Given the description of an element on the screen output the (x, y) to click on. 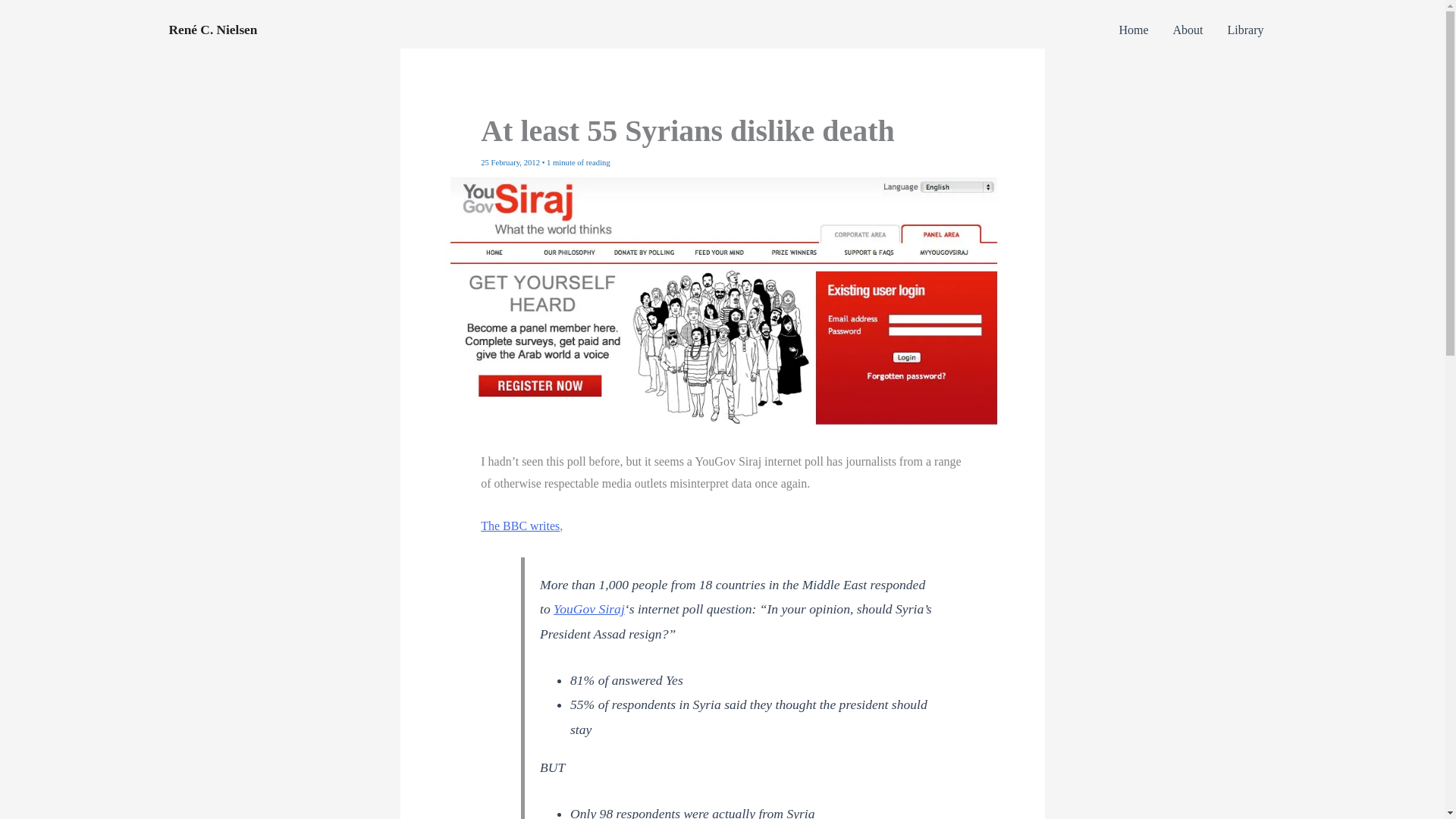
YouGov Siraj (588, 608)
Library (1245, 30)
The BBC writes (519, 525)
About (1187, 30)
YouGov Siraj (588, 608)
